Given the description of an element on the screen output the (x, y) to click on. 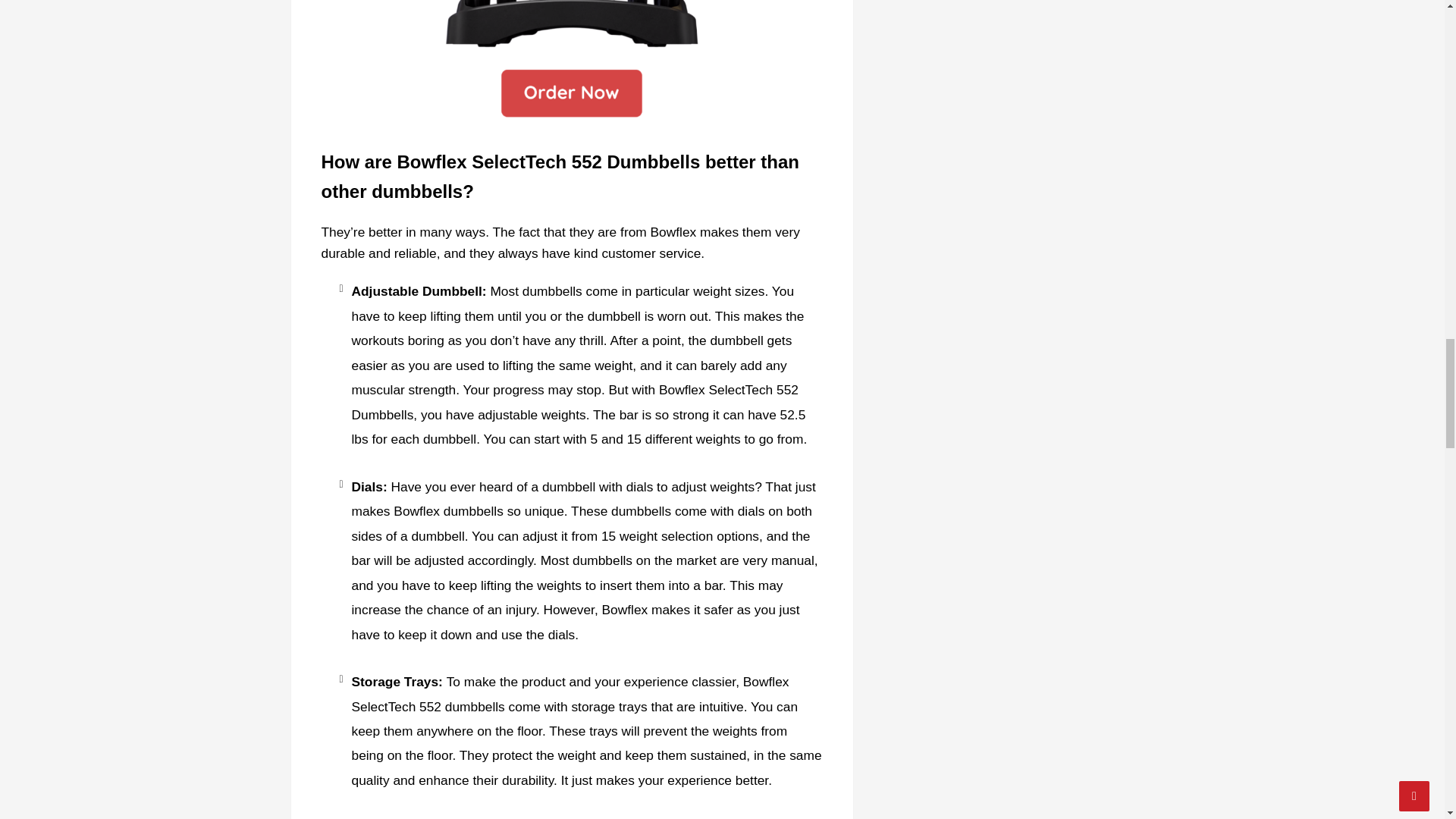
Bowflex Dumbbells Reviews 2 (572, 25)
Bowflex Dumbbells Reviews 3 (571, 95)
